Given the description of an element on the screen output the (x, y) to click on. 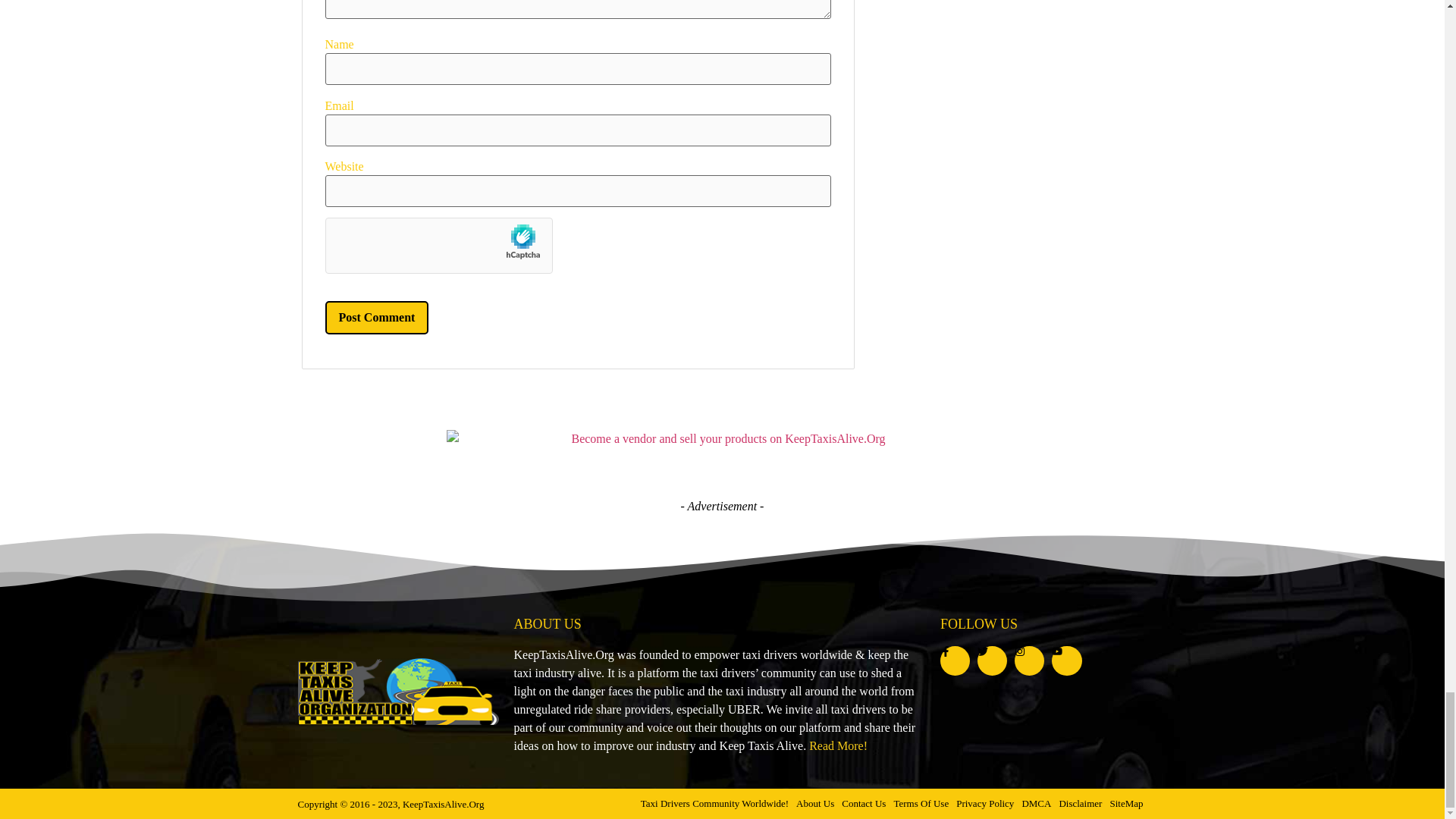
Post Comment (376, 317)
